Given the description of an element on the screen output the (x, y) to click on. 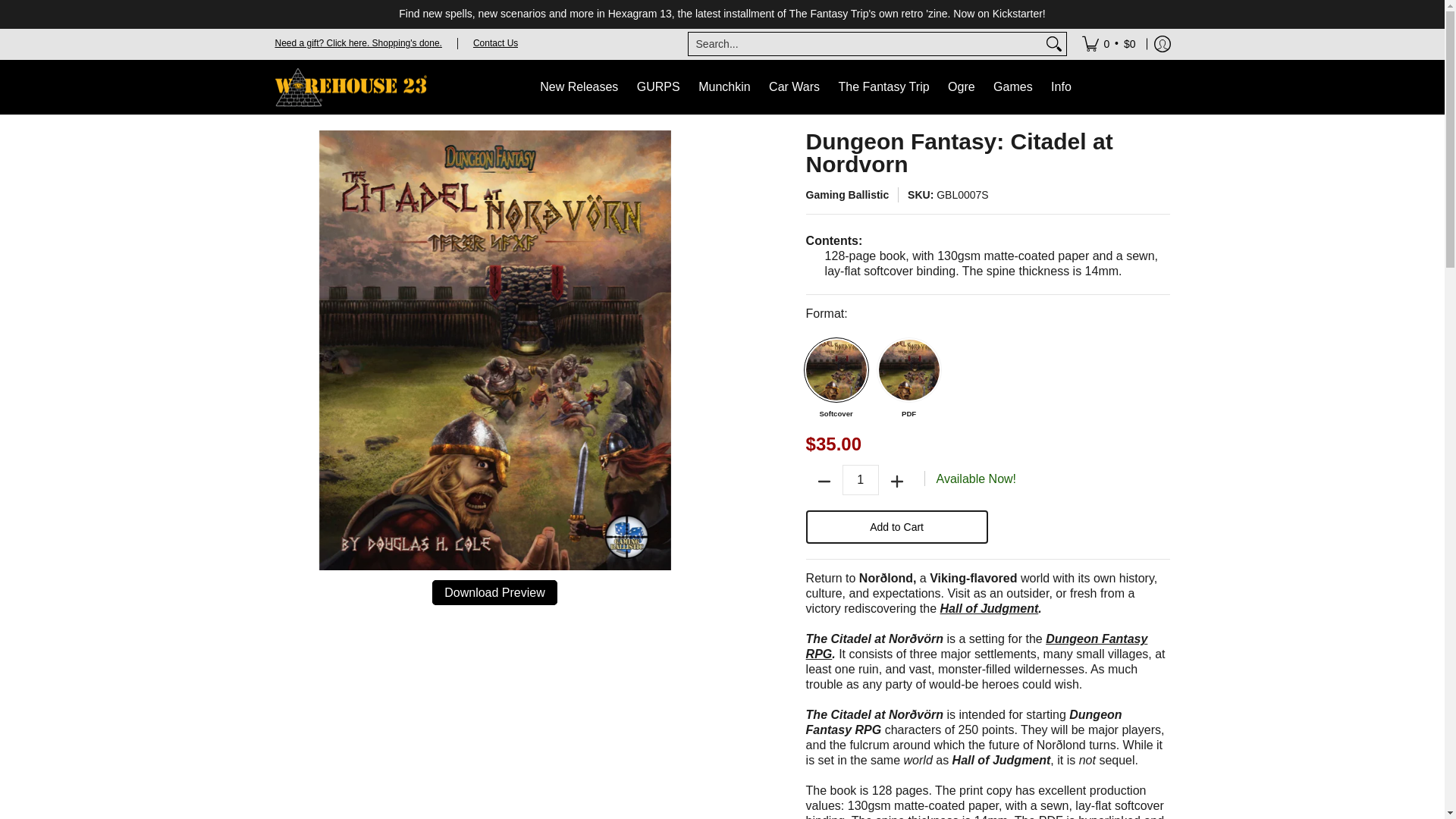
Cart (1108, 43)
New Releases (579, 86)
The Fantasy Trip (884, 86)
Car Wars (794, 86)
Warehouse 23 (350, 86)
GURPS (657, 86)
Munchkin (723, 86)
Games (1013, 87)
Log in (1161, 43)
New Releases (579, 86)
Warehouse 23 Gift Certificate (358, 42)
Games (1013, 87)
Car Wars (794, 86)
GURPS (657, 86)
